Given the description of an element on the screen output the (x, y) to click on. 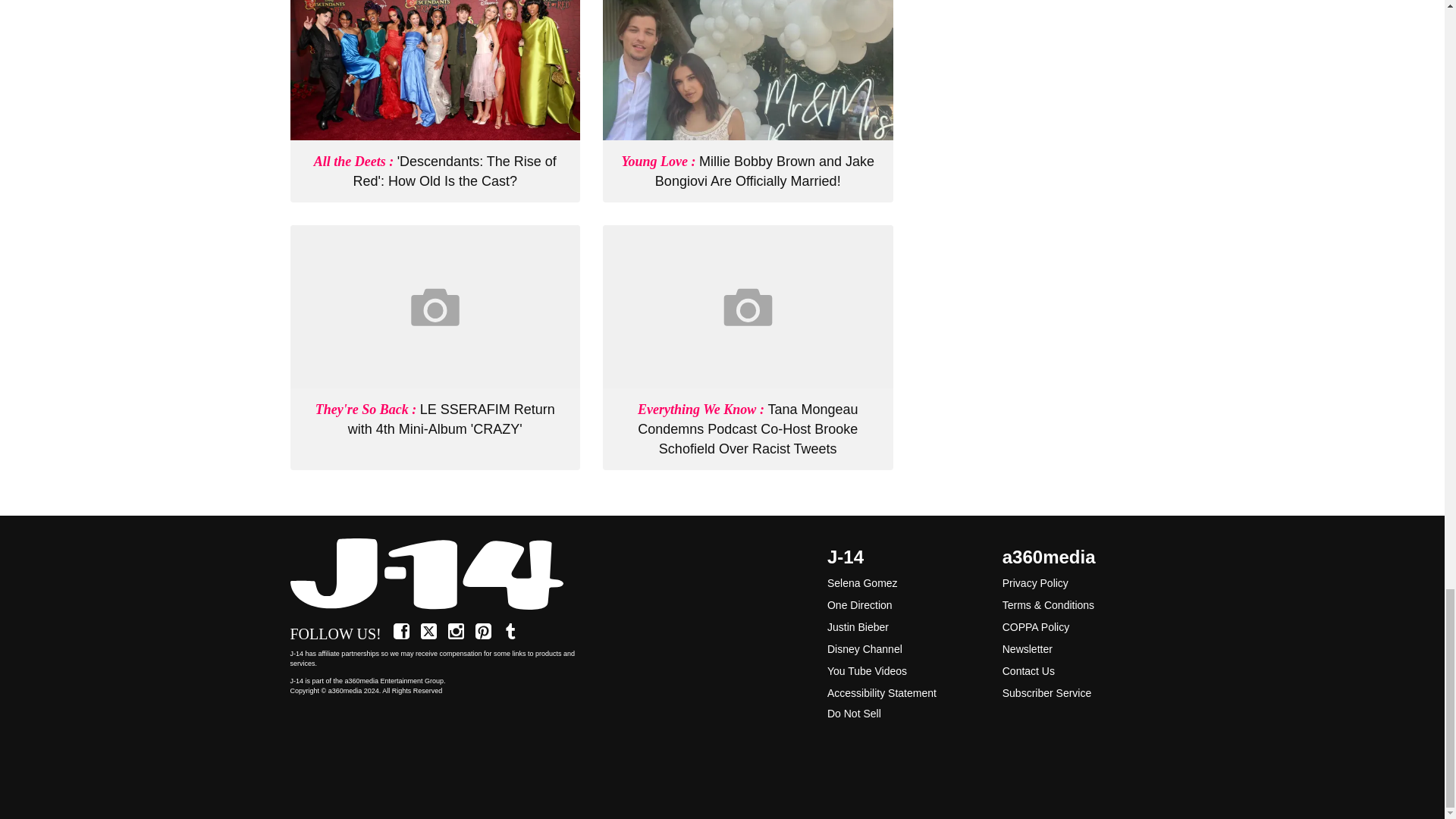
Home (434, 574)
